Given the description of an element on the screen output the (x, y) to click on. 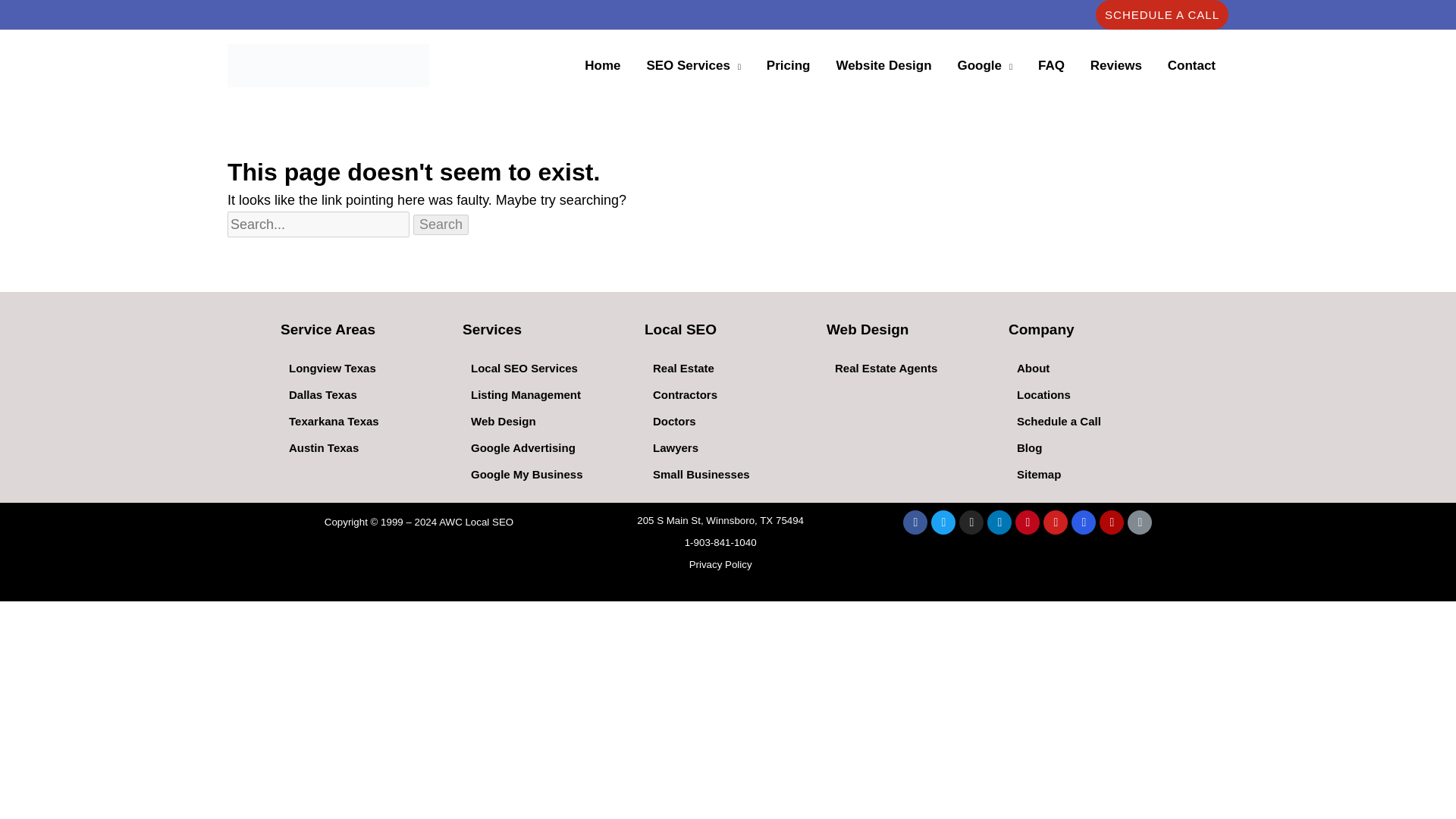
Website Development (882, 65)
Local SEO Frequently Asked Questions (1051, 65)
Reviews (1115, 65)
Search (440, 224)
SCHEDULE A CALL (1162, 14)
Google Services (984, 65)
SEO Services (692, 65)
Google (984, 65)
Contact (1191, 65)
Search (440, 224)
